Given the description of an element on the screen output the (x, y) to click on. 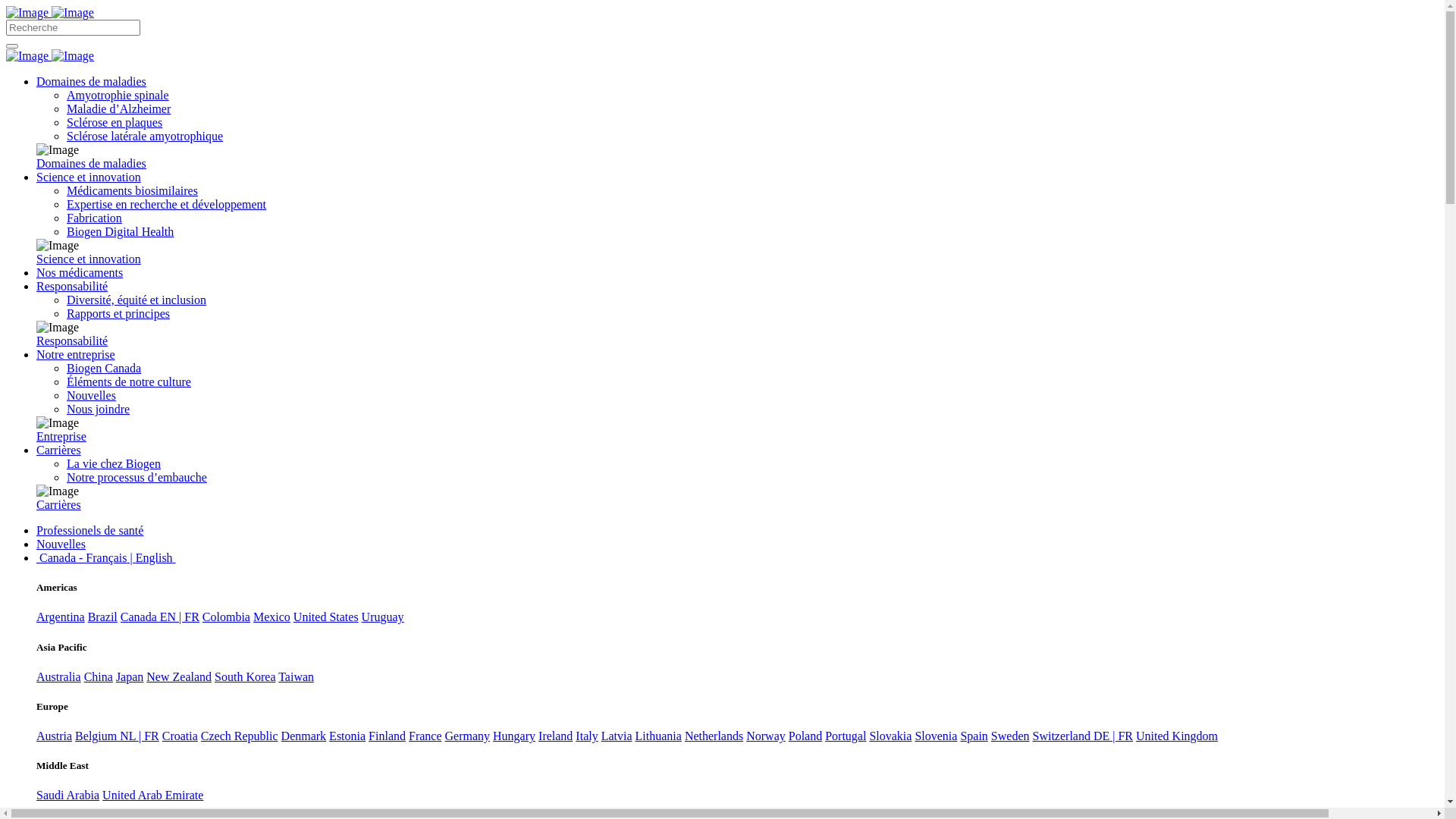
Sweden Element type: text (1010, 735)
Italy Element type: text (586, 735)
Biogen Canada Element type: text (103, 367)
Notre entreprise Element type: text (75, 354)
Nouvelles Element type: text (91, 395)
Australia Element type: text (58, 676)
Taiwan Element type: text (295, 676)
Rapports et principes Element type: text (117, 313)
Norway Element type: text (765, 735)
La vie chez Biogen Element type: text (113, 463)
New Zealand Element type: text (178, 676)
Colombia Element type: text (226, 616)
Denmark Element type: text (303, 735)
Finland Element type: text (386, 735)
Nous joindre Element type: text (97, 408)
Hungary Element type: text (513, 735)
Fabrication Element type: text (94, 217)
Spain Element type: text (973, 735)
Domaines de maladies Element type: text (91, 81)
China Element type: text (98, 676)
Belgium NL | FR Element type: text (117, 735)
Science et innovation Element type: text (88, 176)
Nouvelles Element type: text (60, 543)
Canada EN | FR Element type: text (159, 616)
Lithuania Element type: text (658, 735)
Switzerland DE | FR Element type: text (1082, 735)
Estonia Element type: text (347, 735)
Domaines de maladies Element type: text (91, 162)
Slovenia Element type: text (935, 735)
France Element type: text (425, 735)
Ireland Element type: text (555, 735)
Portugal Element type: text (845, 735)
Poland Element type: text (805, 735)
Biogen Digital Health Element type: text (119, 231)
United Arab Emirate Element type: text (152, 794)
United Kingdom Element type: text (1176, 735)
Entreprise Element type: text (61, 435)
Argentina Element type: text (60, 616)
Uruguay Element type: text (382, 616)
United States Element type: text (325, 616)
Germany Element type: text (467, 735)
Austria Element type: text (54, 735)
Amyotrophie spinale Element type: text (117, 94)
Latvia Element type: text (616, 735)
Mexico Element type: text (271, 616)
Netherlands Element type: text (713, 735)
Croatia Element type: text (179, 735)
Science et innovation Element type: text (88, 258)
Brazil Element type: text (102, 616)
Slovakia Element type: text (890, 735)
Japan Element type: text (129, 676)
Czech Republic Element type: text (239, 735)
Saudi Arabia Element type: text (67, 794)
South Korea Element type: text (244, 676)
